Given the description of an element on the screen output the (x, y) to click on. 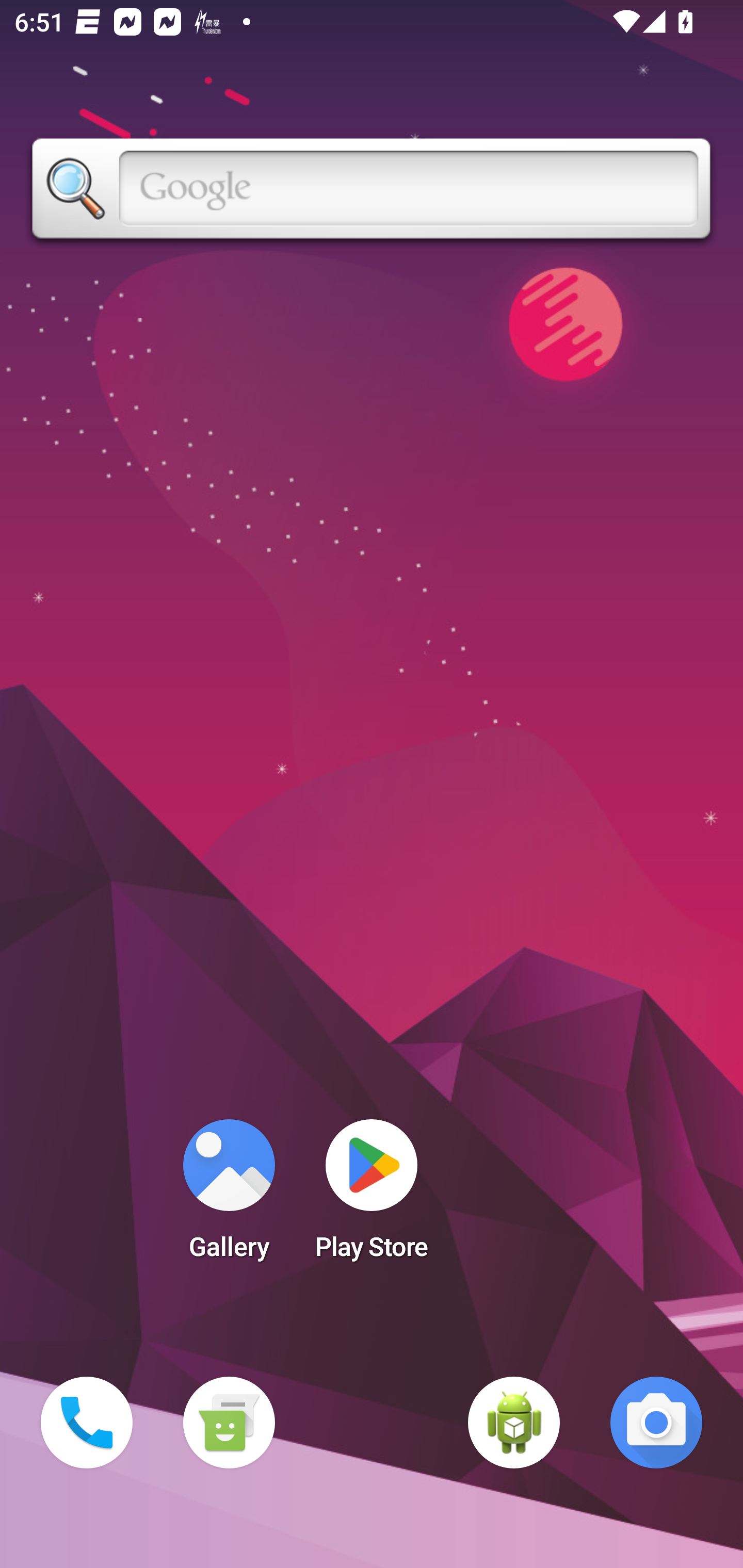
Gallery (228, 1195)
Play Store (371, 1195)
Phone (86, 1422)
Messaging (228, 1422)
WebView Browser Tester (513, 1422)
Camera (656, 1422)
